Given the description of an element on the screen output the (x, y) to click on. 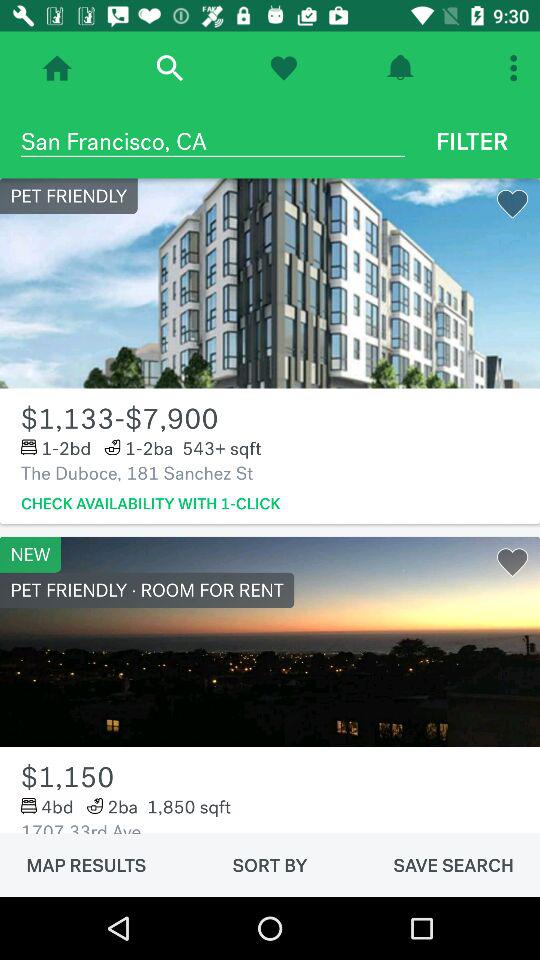
open the save search (453, 865)
